Given the description of an element on the screen output the (x, y) to click on. 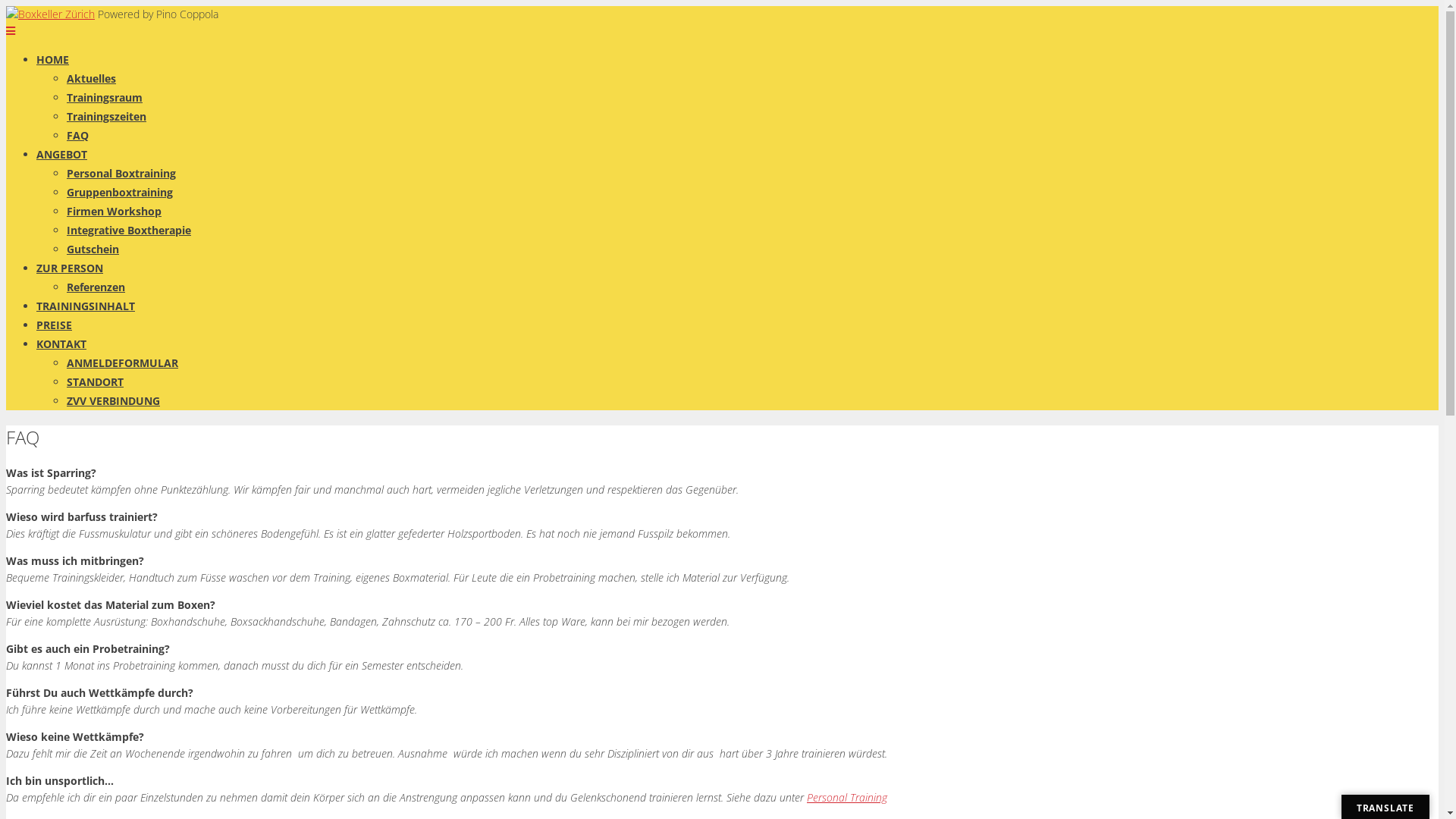
Gutschein Element type: text (92, 248)
FAQ Element type: text (77, 135)
Integrative Boxtherapie Element type: text (128, 229)
Trainingszeiten Element type: text (106, 116)
ANGEBOT Element type: text (61, 154)
HOME Element type: text (52, 59)
ANMELDEFORMULAR Element type: text (122, 362)
Referenzen Element type: text (95, 286)
Trainingsraum Element type: text (104, 97)
ZUR PERSON Element type: text (69, 267)
TRAININGSINHALT Element type: text (85, 305)
Firmen Workshop Element type: text (113, 210)
STANDORT Element type: text (94, 381)
KONTAKT Element type: text (61, 343)
Personal Training Element type: text (846, 797)
ZVV VERBINDUNG Element type: text (113, 400)
PREISE Element type: text (54, 324)
Personal Boxtraining Element type: text (120, 173)
Gruppenboxtraining Element type: text (119, 192)
Aktuelles Element type: text (91, 78)
